Given the description of an element on the screen output the (x, y) to click on. 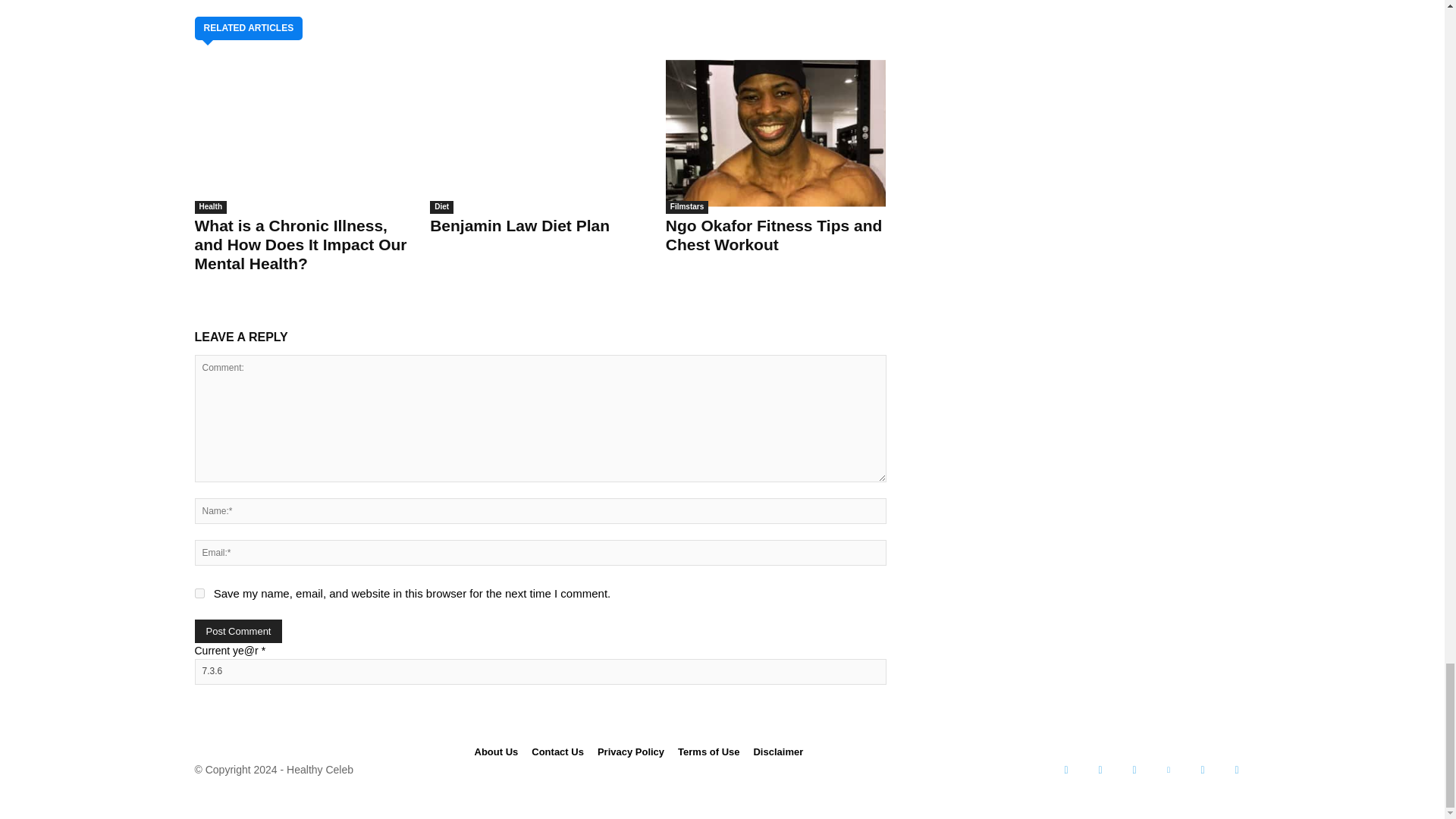
Post Comment (237, 630)
yes (198, 593)
7.3.6 (539, 671)
